Given the description of an element on the screen output the (x, y) to click on. 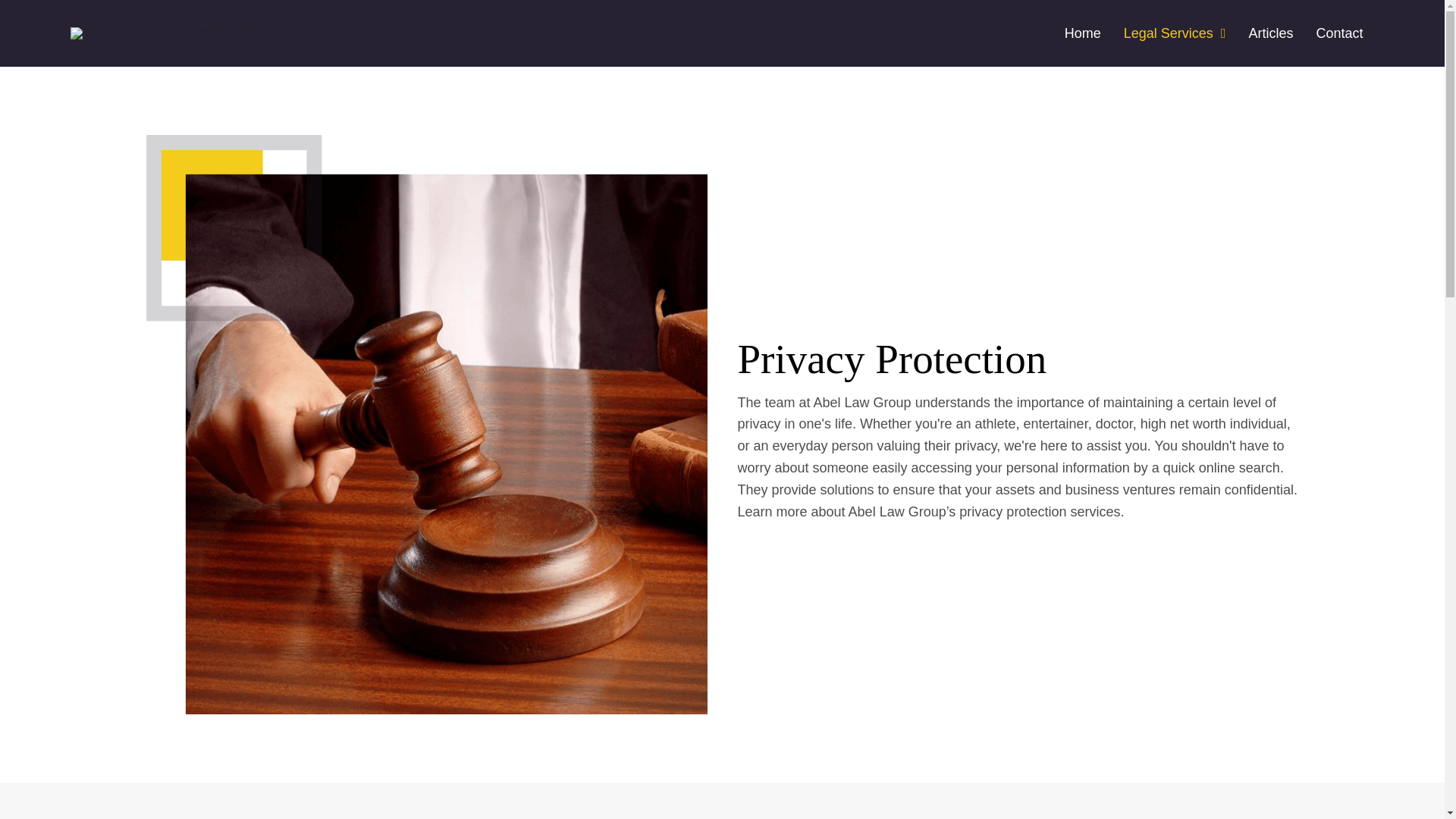
Legal Services (1174, 32)
Home (1082, 32)
Contact (1338, 32)
Articles (1270, 32)
